Given the description of an element on the screen output the (x, y) to click on. 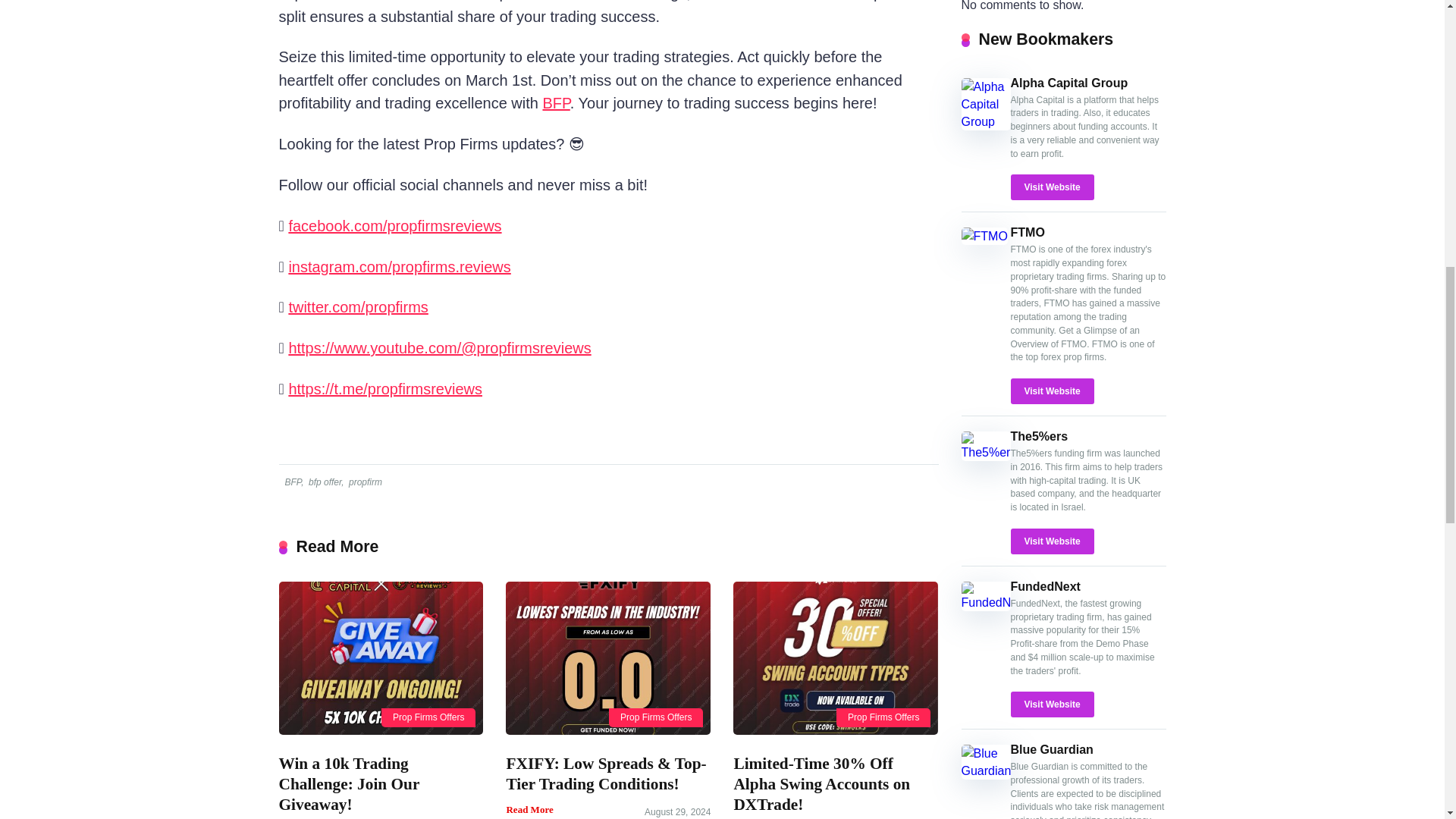
BFP (555, 103)
Alpha Capital Group (1068, 82)
Visit Website (1051, 391)
propfirm (363, 481)
FTMO (983, 236)
Prop Firms Offers (655, 717)
FTMO (1026, 232)
BFP (291, 481)
Alpha Capital Group (985, 121)
Win a 10k Trading Challenge: Join Our Giveaway! (349, 783)
